Given the description of an element on the screen output the (x, y) to click on. 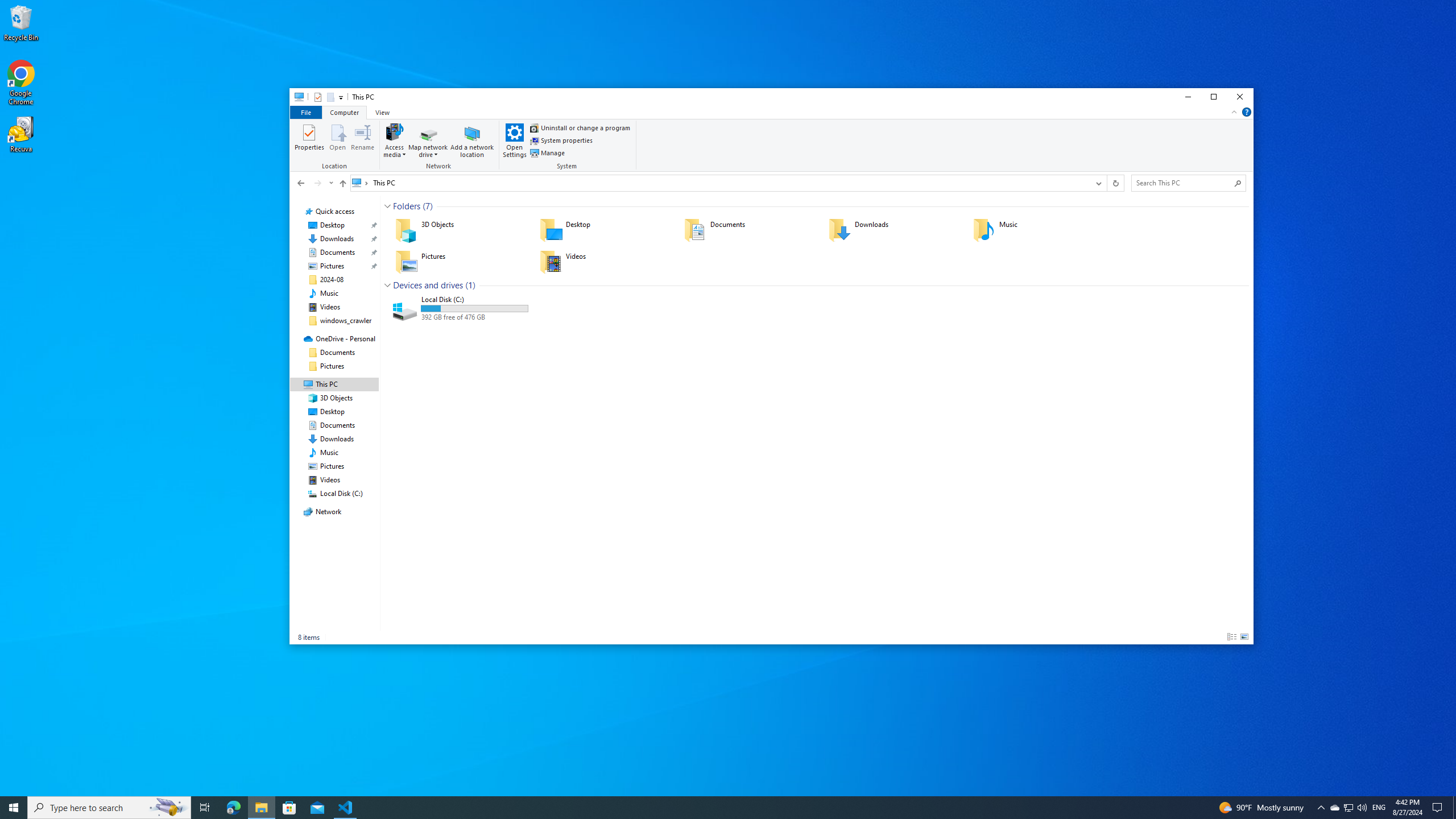
Network (440, 145)
Desktop (pinned) (332, 224)
Videos (603, 261)
Downloads (pinned) (336, 238)
Search Box (1182, 182)
Available space (474, 316)
Customize Quick Access Toolbar (341, 96)
System (295, 98)
This PC (384, 182)
Rename (362, 140)
System (295, 98)
